Given the description of an element on the screen output the (x, y) to click on. 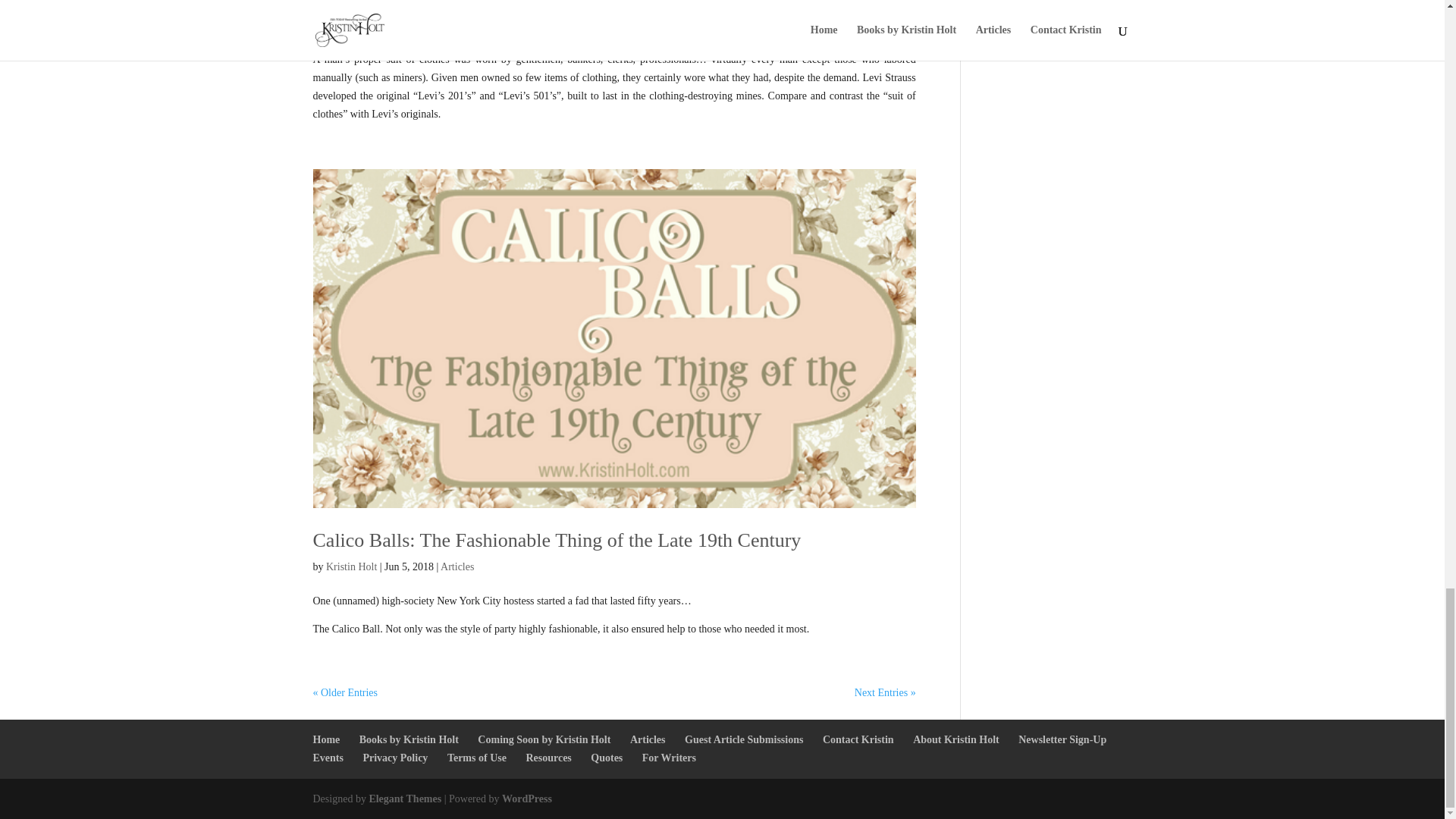
Articles (454, 25)
Calico Balls: The Fashionable Thing of the Late 19th Century (556, 540)
Books by Kristin Holt (408, 739)
Premium WordPress Themes (404, 798)
Posts by Kristin Holt (351, 566)
Home (326, 739)
Posts by Kristin Holt (351, 25)
Articles (457, 566)
Kristin Holt (351, 25)
Coming Soon by Kristin Holt (543, 739)
